Given the description of an element on the screen output the (x, y) to click on. 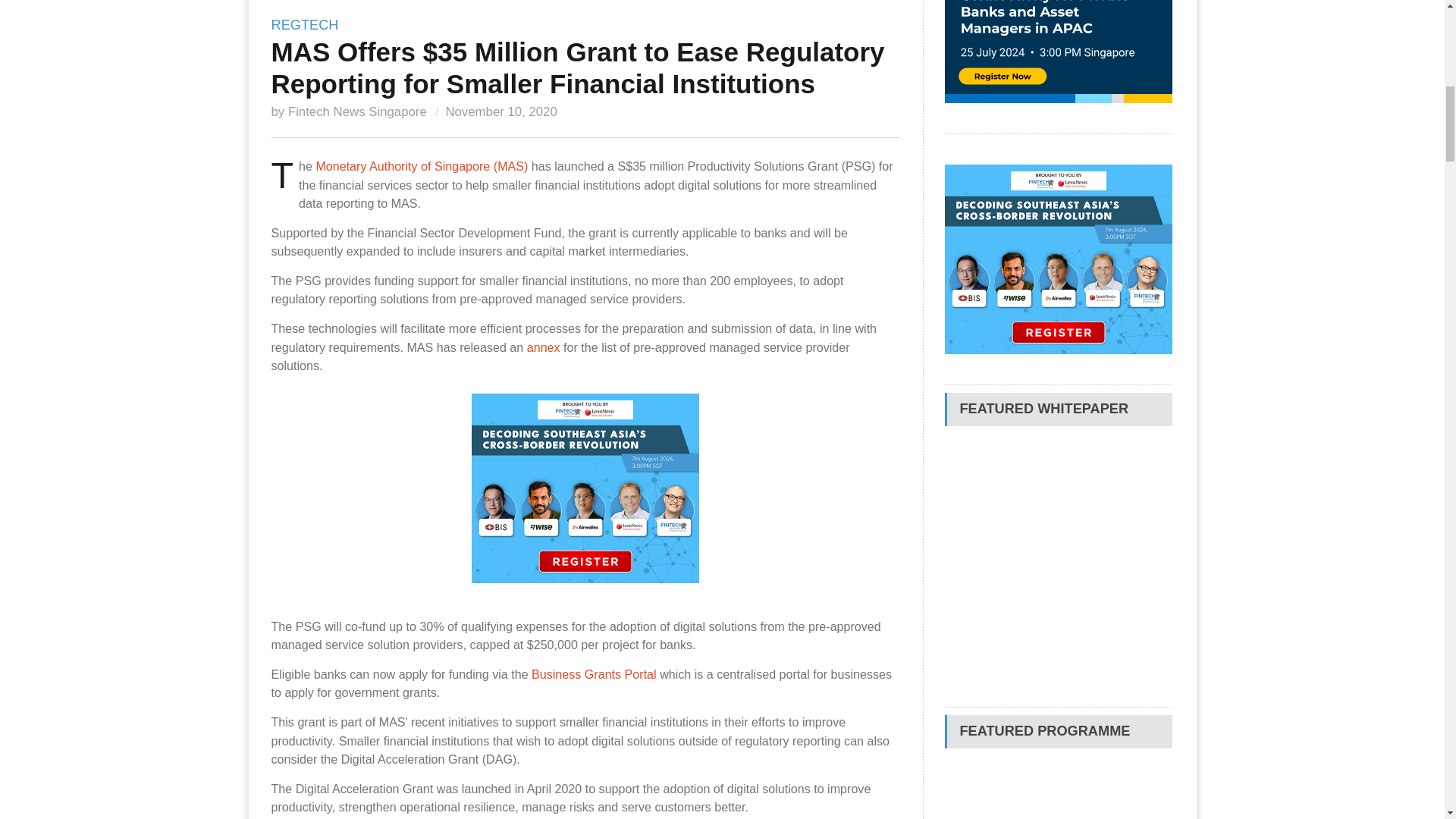
Posts by Fintech News Singapore (357, 111)
